Given the description of an element on the screen output the (x, y) to click on. 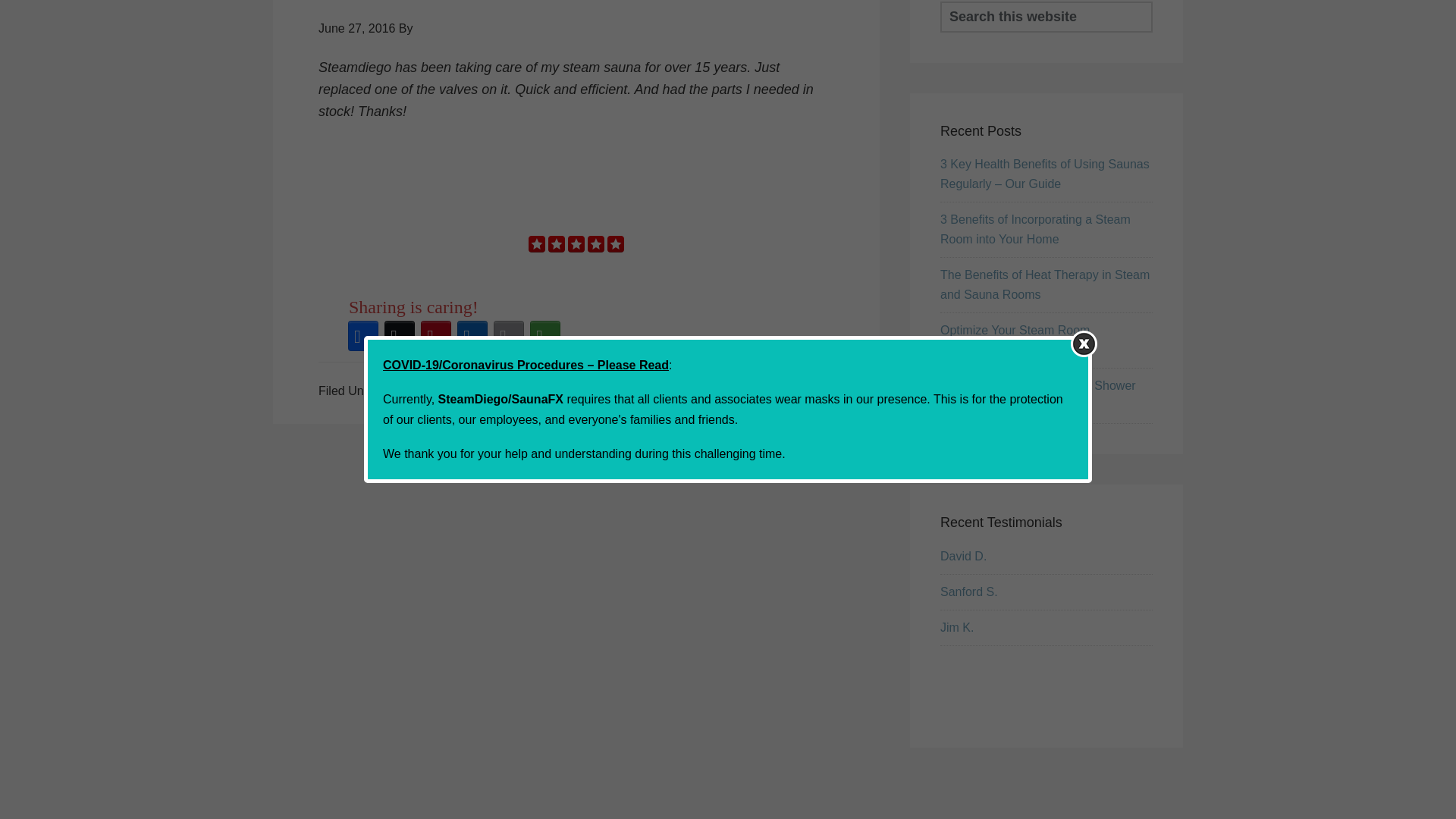
Email This (508, 335)
Facebook (363, 335)
Close (1083, 148)
More Options (545, 335)
LinkedIn (472, 335)
Pinterest (435, 335)
